Given the description of an element on the screen output the (x, y) to click on. 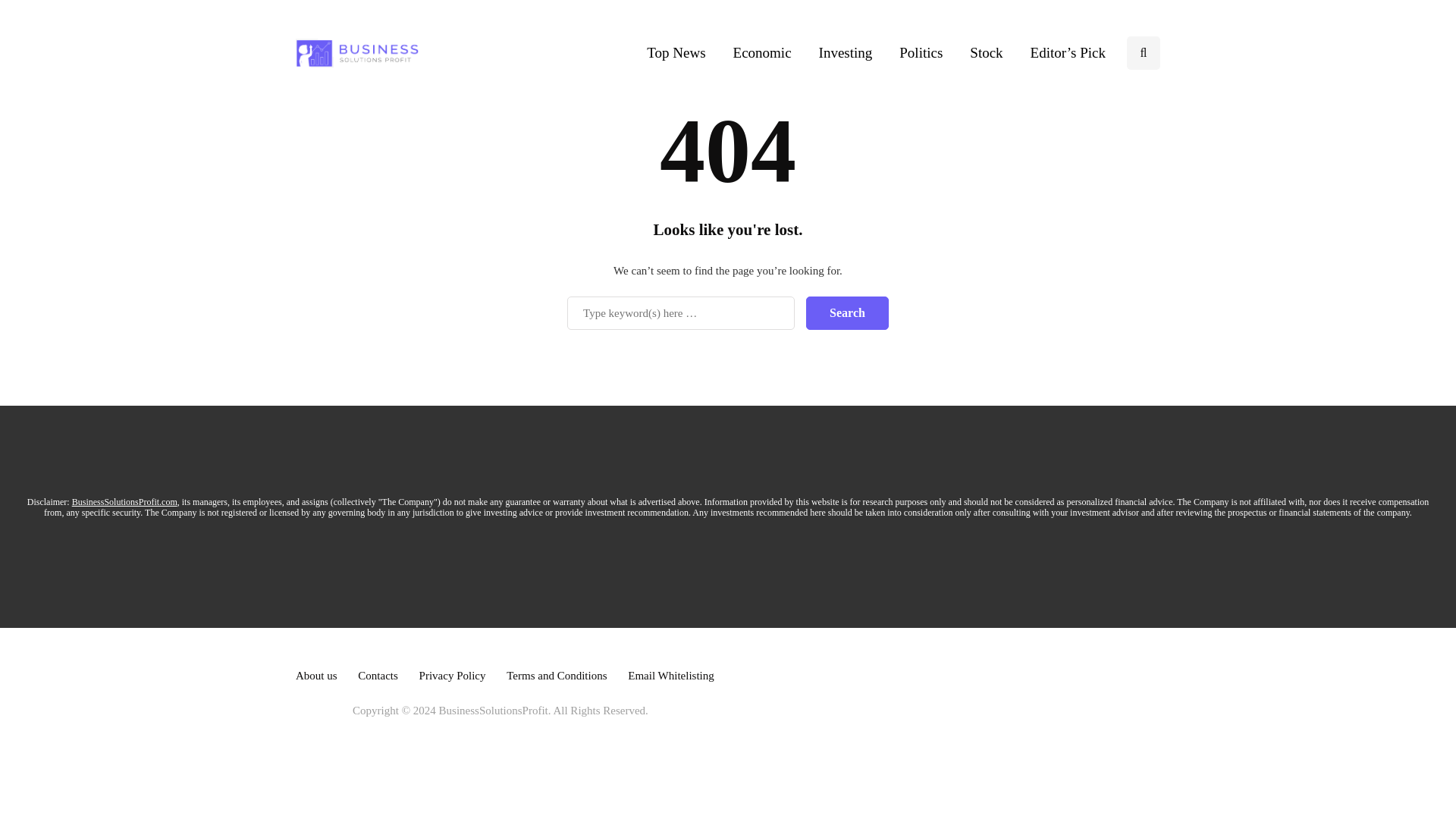
Contacts (377, 674)
Economic (762, 52)
BusinessSolutionsProfit.com (124, 501)
Terms and Conditions (556, 674)
Search (847, 312)
Email Whitelisting (670, 674)
About us (316, 674)
Investing (845, 52)
Politics (920, 52)
Stock (986, 52)
